Given the description of an element on the screen output the (x, y) to click on. 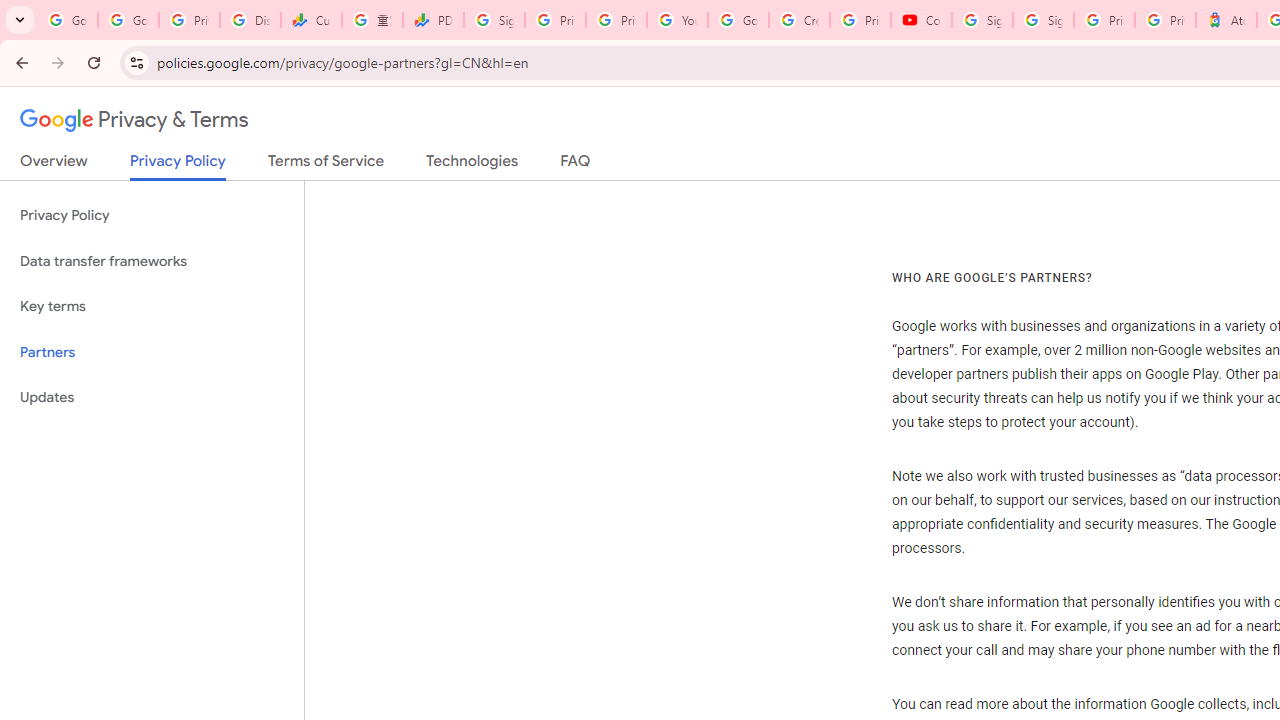
YouTube (676, 20)
Privacy Checkup (616, 20)
Create your Google Account (799, 20)
Atour Hotel - Google hotels (1225, 20)
